Given the description of an element on the screen output the (x, y) to click on. 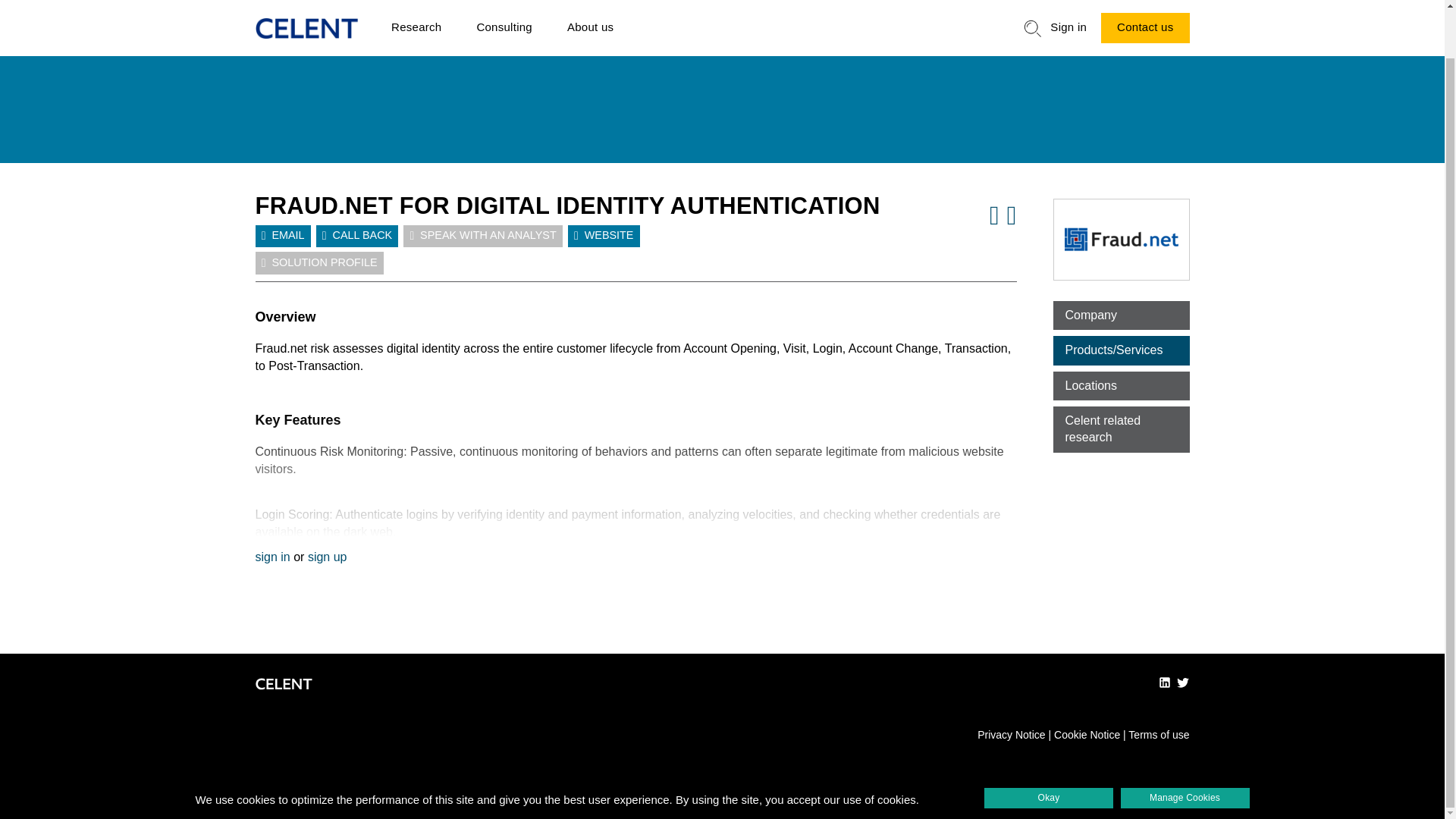
Consulting (503, 11)
About us (590, 11)
search (1032, 8)
Research (415, 11)
Contact us (1144, 11)
Home (306, 9)
Manage Cookies (1185, 746)
Okay (1048, 746)
Sign in (1068, 11)
